Given the description of an element on the screen output the (x, y) to click on. 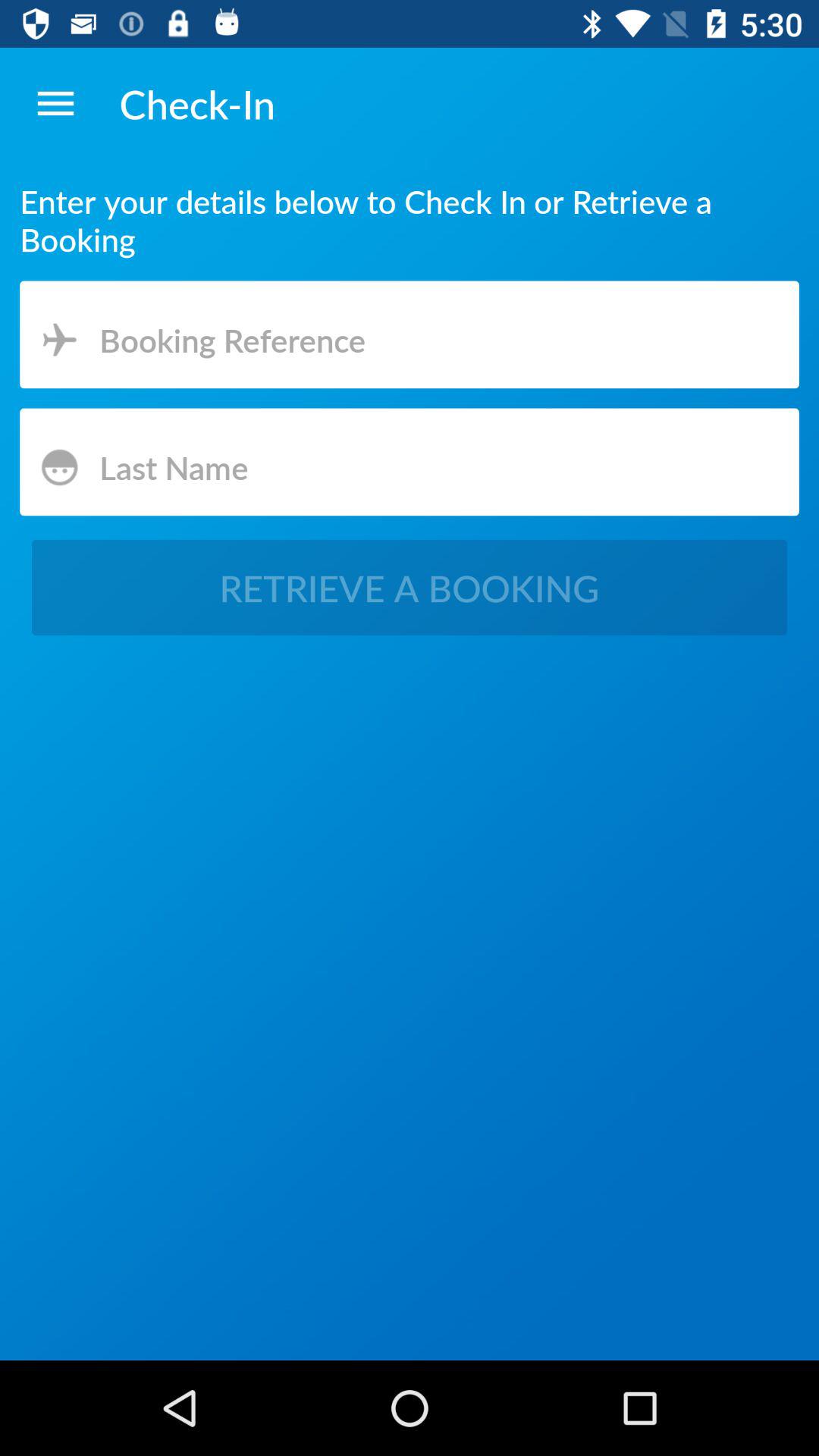
open the app next to check-in item (55, 103)
